Given the description of an element on the screen output the (x, y) to click on. 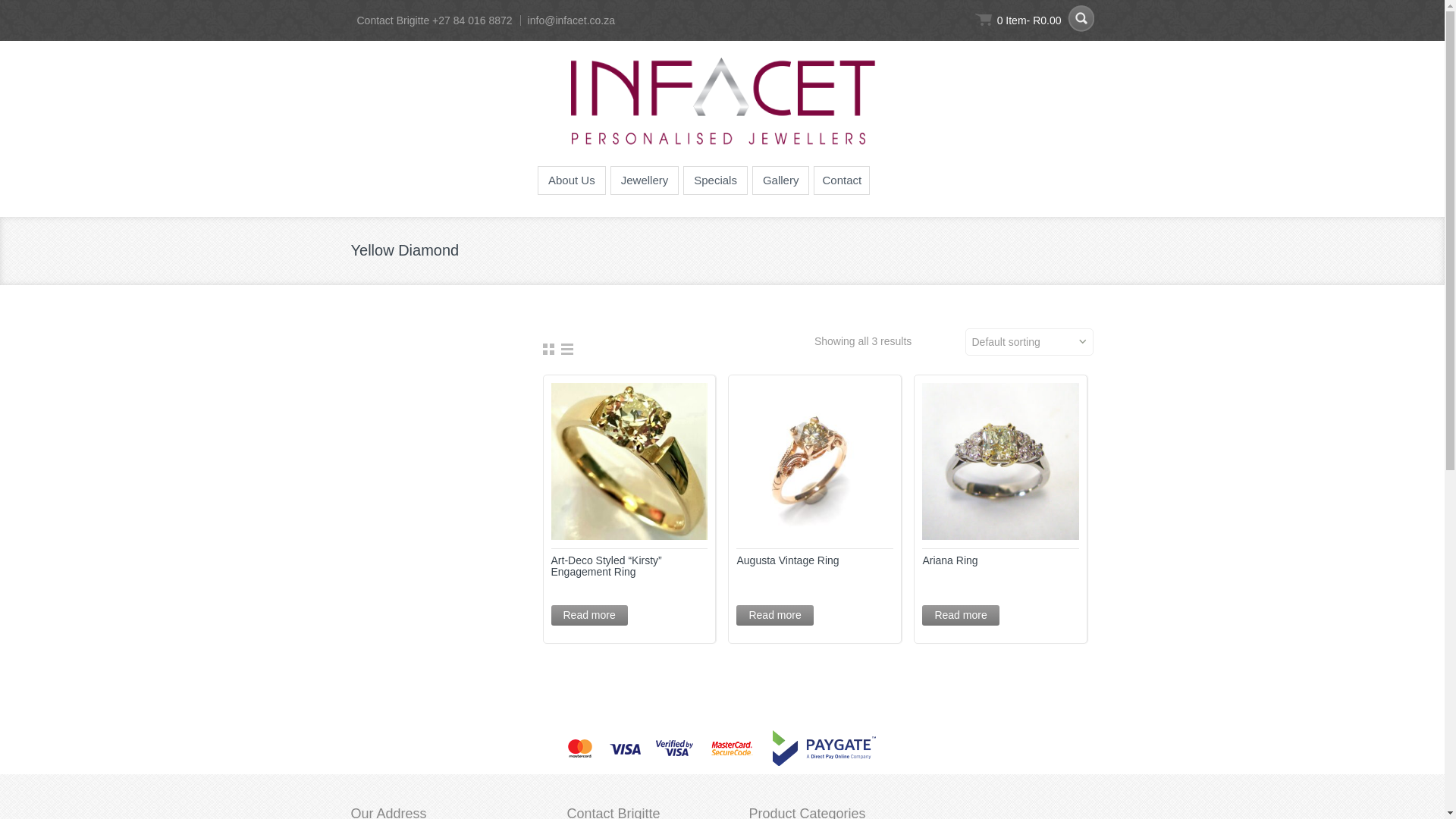
Specials (715, 180)
Gallery (780, 180)
Read more (588, 615)
About Us (571, 180)
Read more (959, 615)
List view (567, 349)
Grid view (548, 349)
View your shopping cart (1016, 18)
Contact (841, 180)
Infacet Jewellers Cape Town South Africa (721, 101)
